Given the description of an element on the screen output the (x, y) to click on. 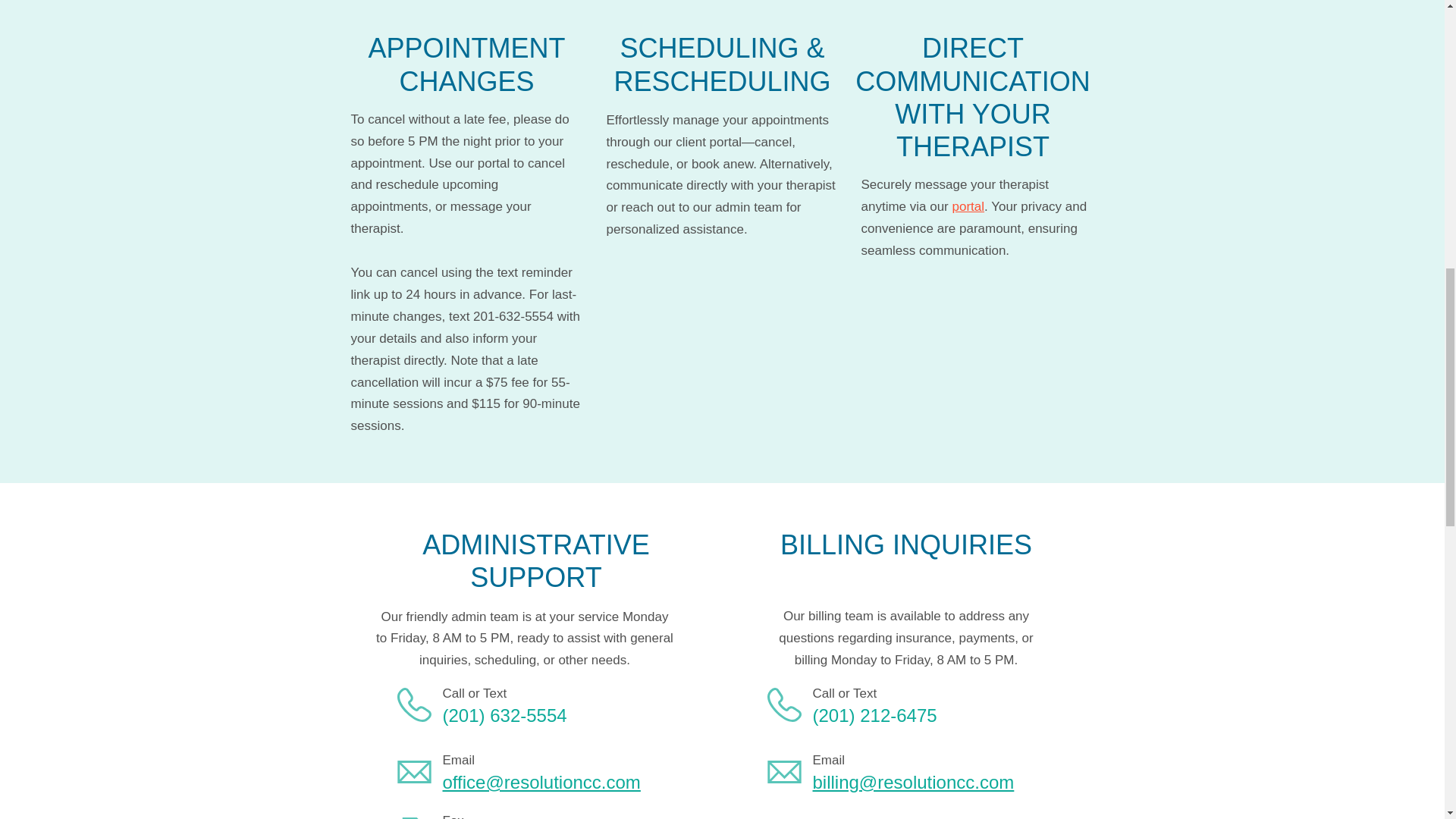
portal (968, 206)
